Given the description of an element on the screen output the (x, y) to click on. 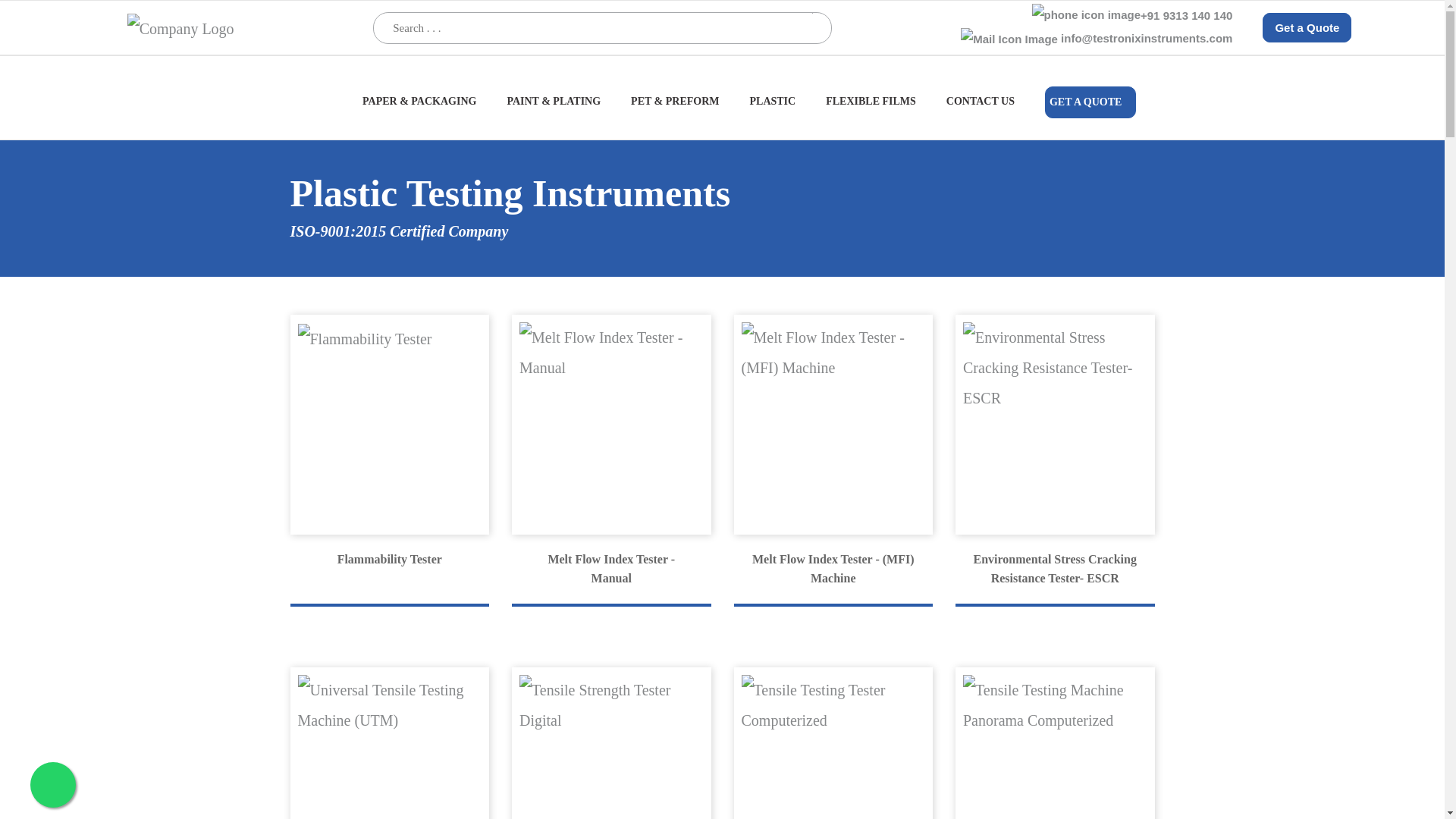
Tensile Strength Tester Digital (611, 743)
PLASTIC (771, 108)
Tensile Testing Machine Panorama Computerized (1054, 743)
Get a Quote (1306, 27)
Tensile Testing Tester Computerized (833, 743)
FLEXIBLE FILMS (870, 108)
GET A QUOTE (1090, 101)
CONTACT US (980, 108)
